Given the description of an element on the screen output the (x, y) to click on. 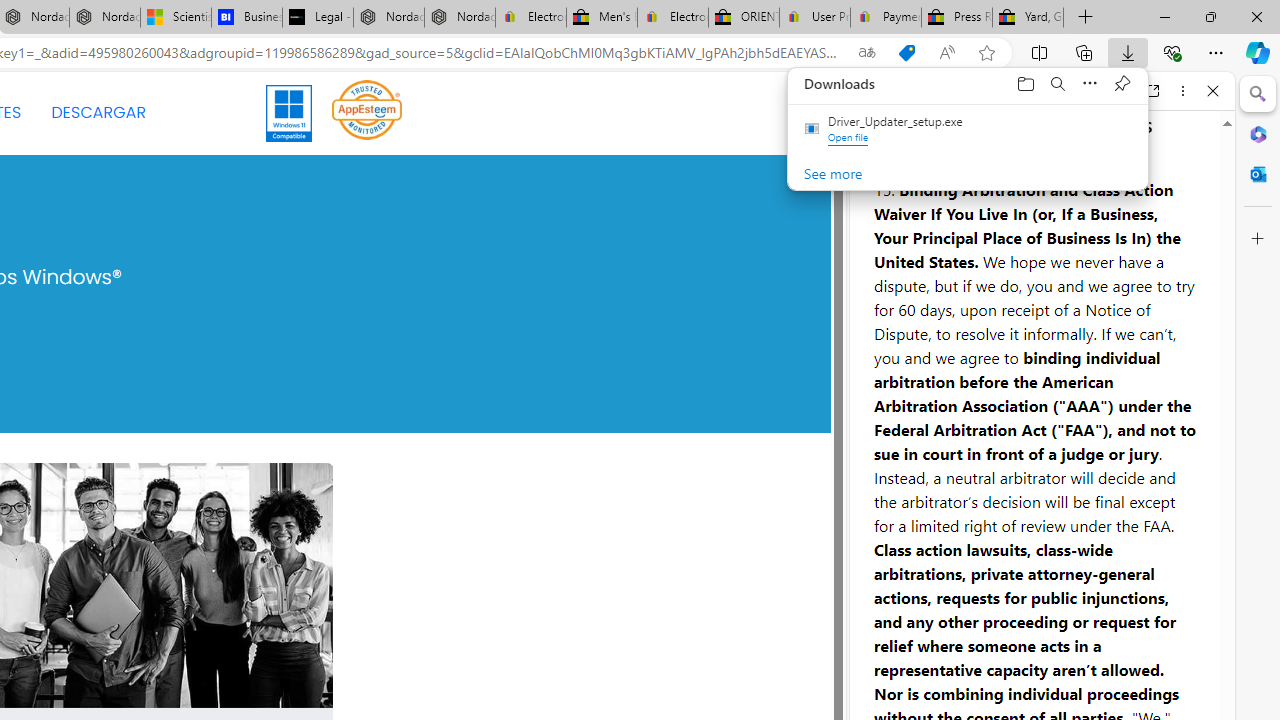
DESCARGAR (98, 112)
App Esteem (367, 109)
Driver_Updater_setup.exe, Open file completed download item (968, 129)
